Given the description of an element on the screen output the (x, y) to click on. 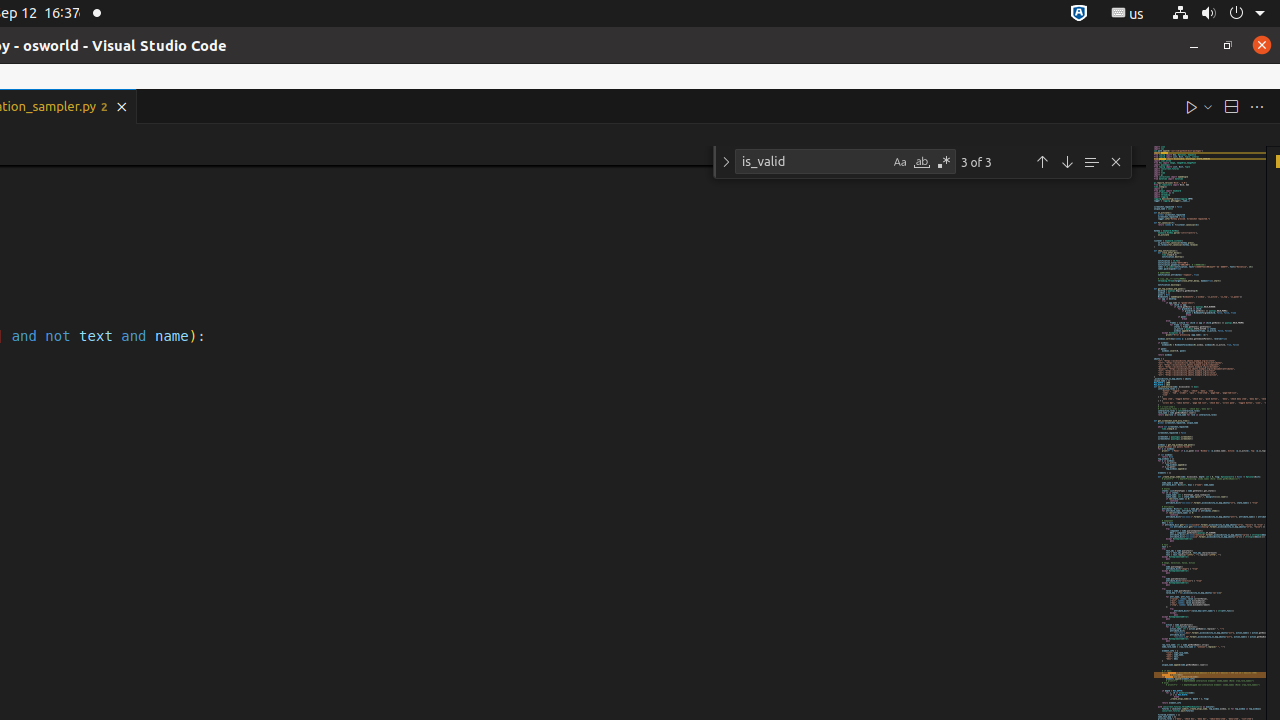
Split Editor Right (Ctrl+\) [Alt] Split Editor Down Element type: push-button (1231, 106)
Run or Debug... Element type: push-button (1208, 106)
Close (Ctrl+W) Element type: push-button (121, 106)
